Given the description of an element on the screen output the (x, y) to click on. 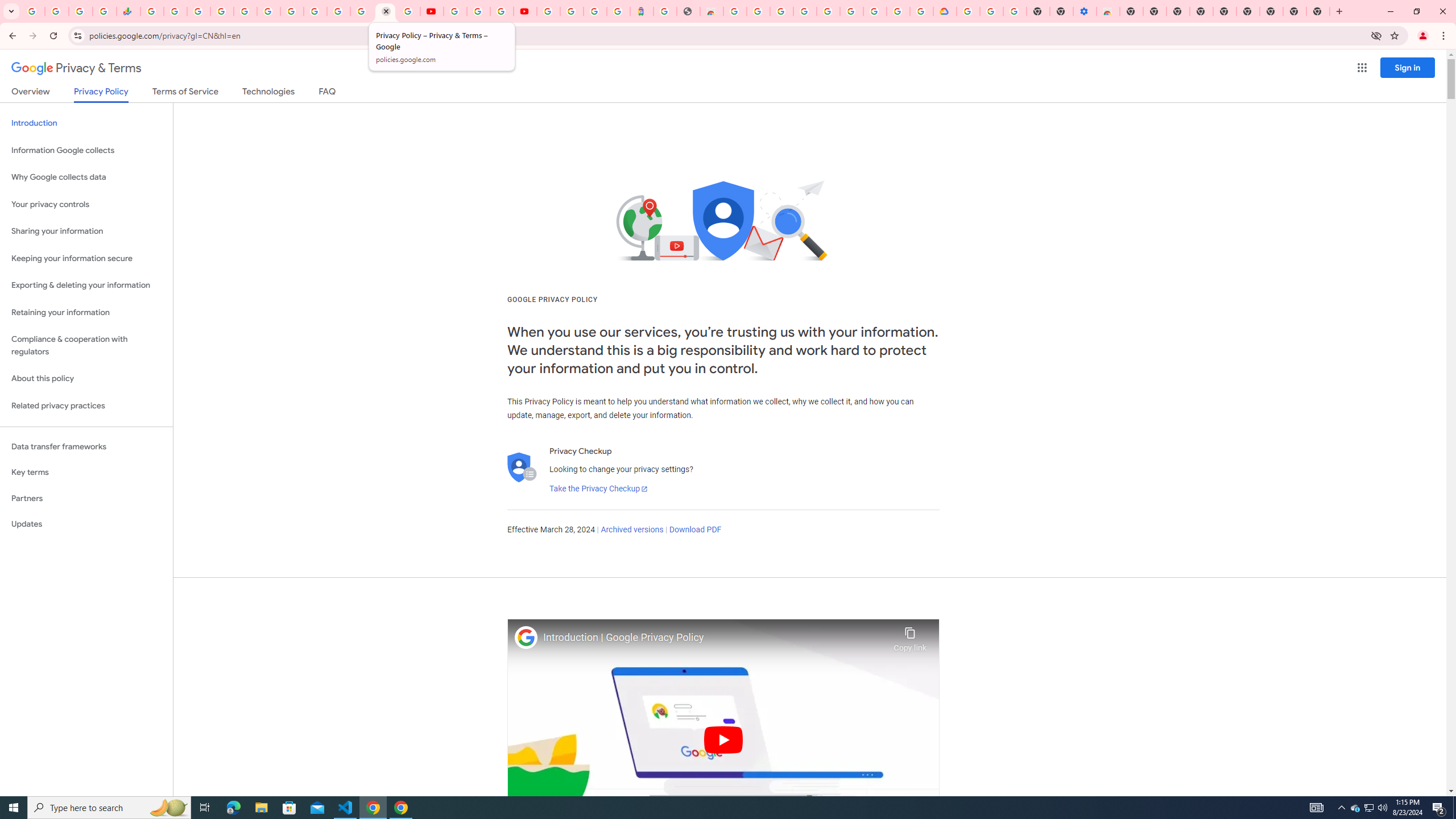
FAQ (327, 93)
Google Account Help (992, 11)
Chrome Web Store - Household (711, 11)
Google Account Help (850, 11)
Terms of Service (184, 93)
Create your Google Account (501, 11)
Sign in - Google Accounts (547, 11)
Partners (86, 497)
